Given the description of an element on the screen output the (x, y) to click on. 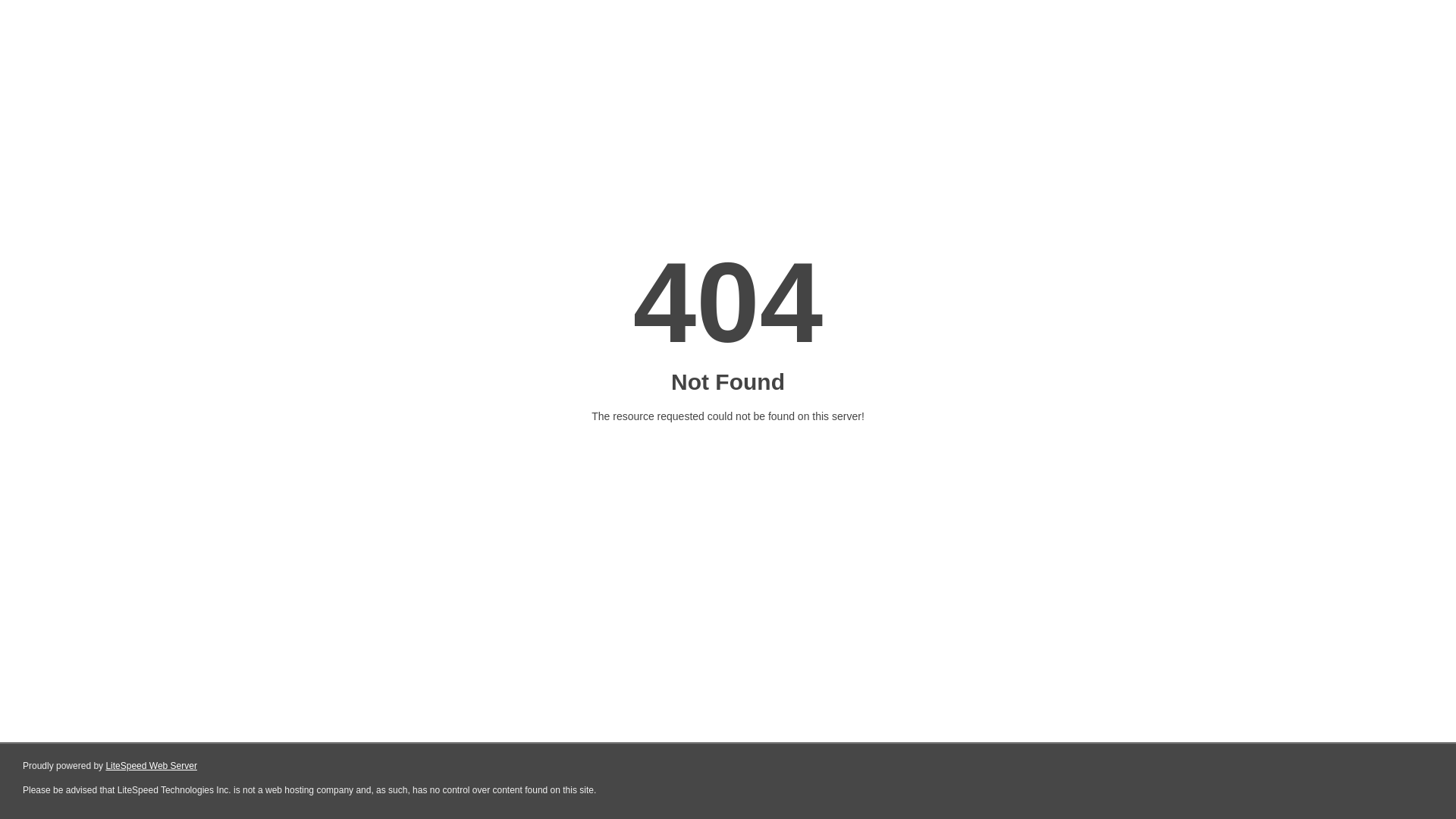
LiteSpeed Web Server Element type: text (151, 765)
